Given the description of an element on the screen output the (x, y) to click on. 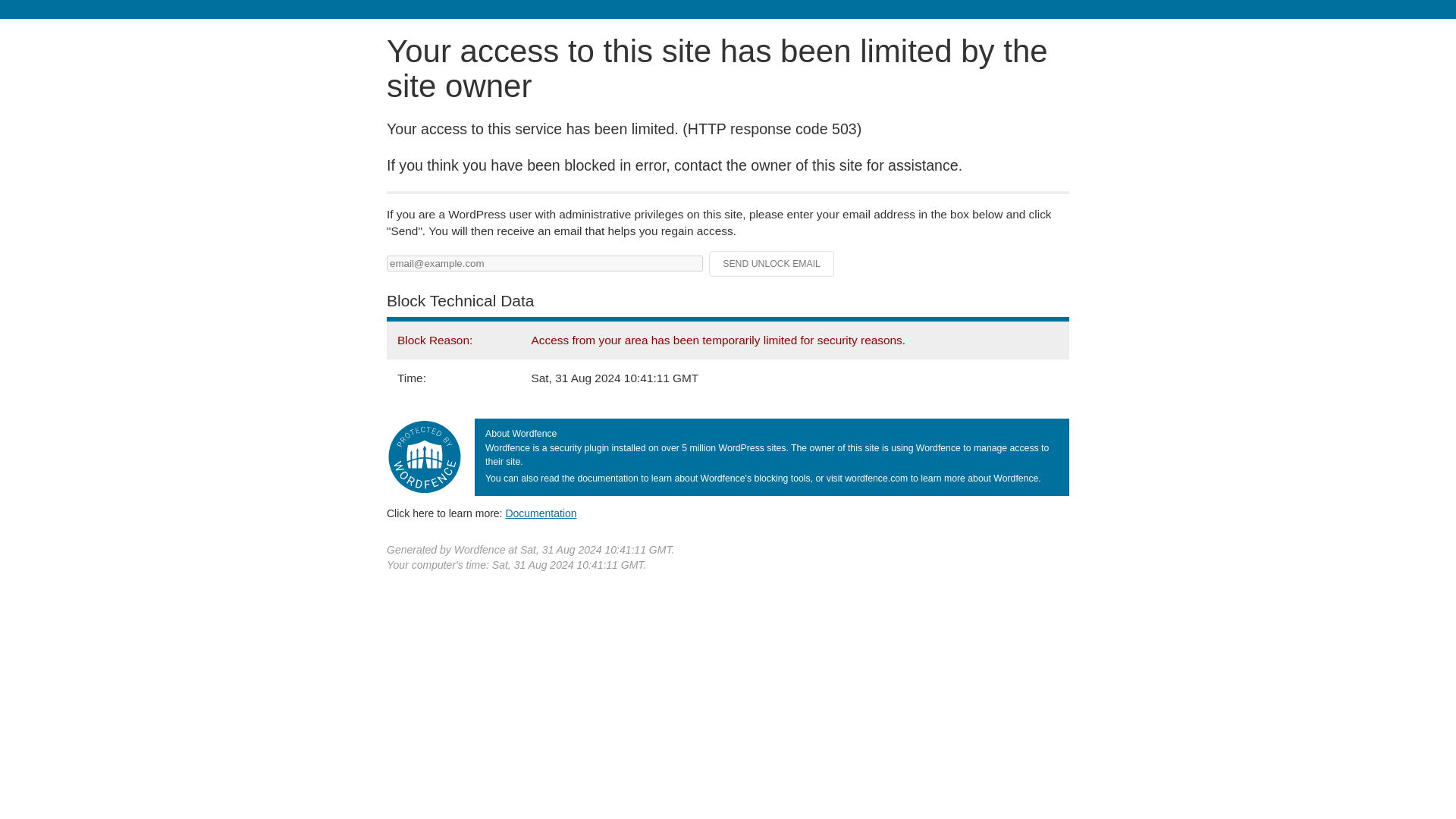
Documentation (540, 512)
Send Unlock Email (771, 263)
Send Unlock Email (771, 263)
